Given the description of an element on the screen output the (x, y) to click on. 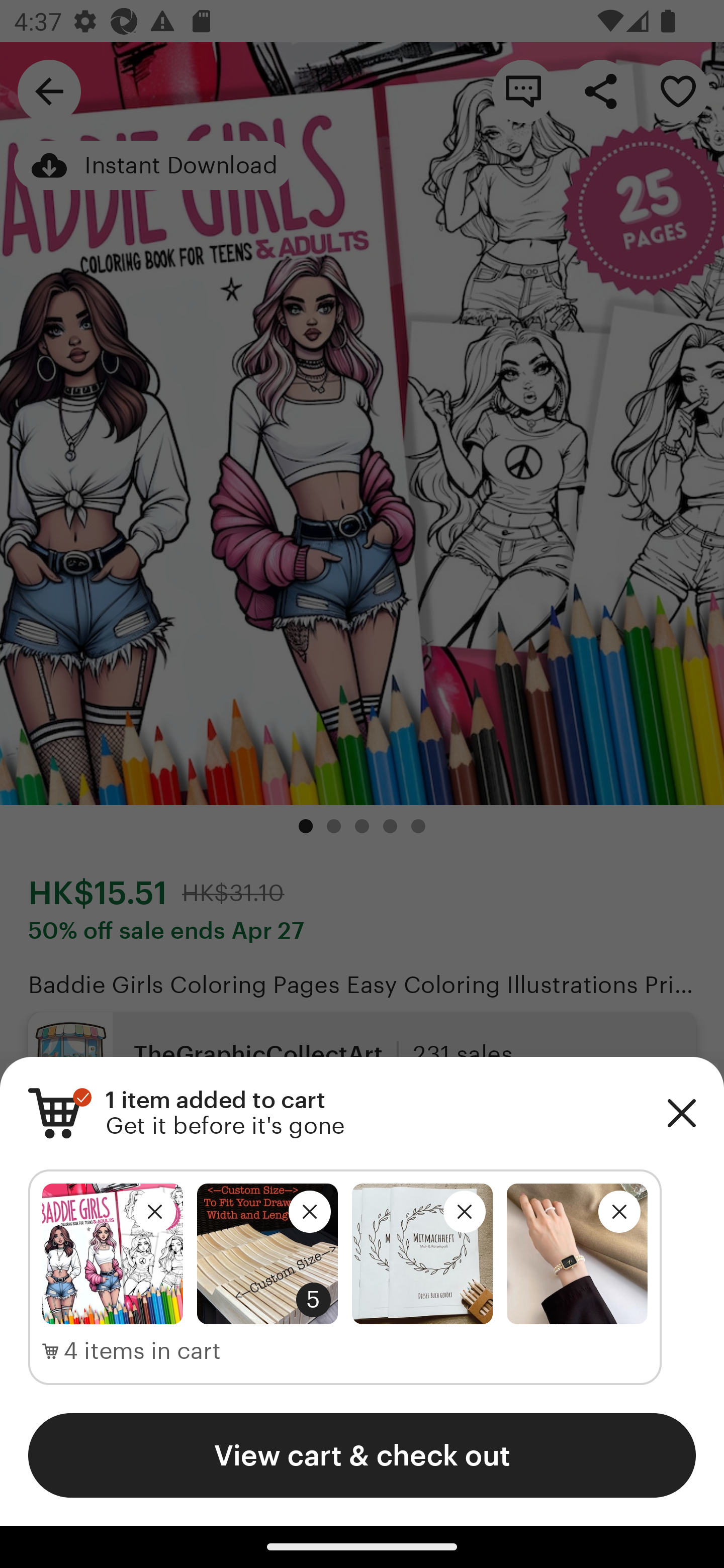
4 items in cart (131, 1351)
View cart & check out (361, 1454)
